Given the description of an element on the screen output the (x, y) to click on. 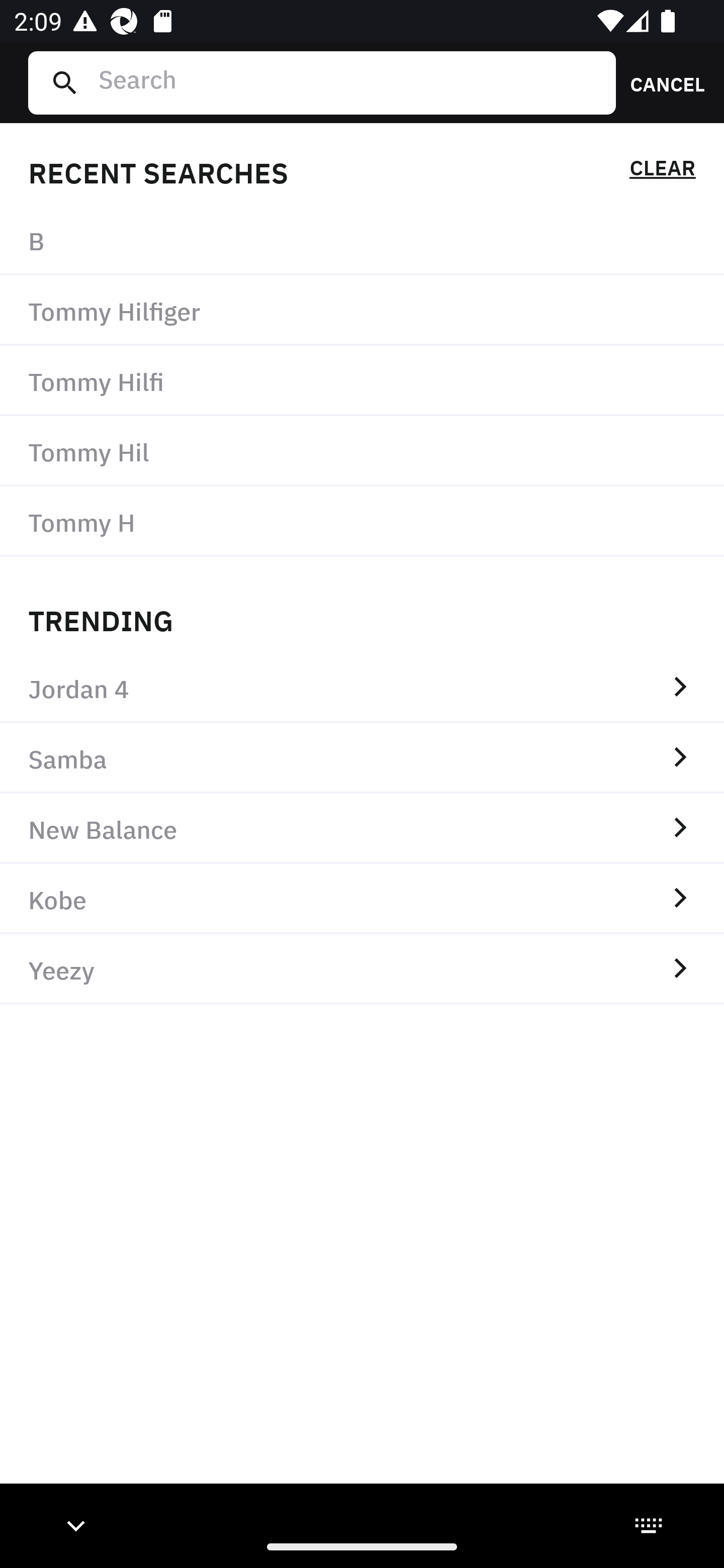
CANCEL (660, 82)
Search (349, 82)
CLEAR (662, 170)
B (362, 240)
Tommy Hilfiger (362, 310)
Tommy Hilfi (362, 380)
Tommy Hil (362, 450)
Tommy H (362, 521)
Jordan 4  (362, 687)
Samba  (362, 757)
New Balance  (362, 828)
Kobe  (362, 898)
Yeezy  (362, 969)
